Given the description of an element on the screen output the (x, y) to click on. 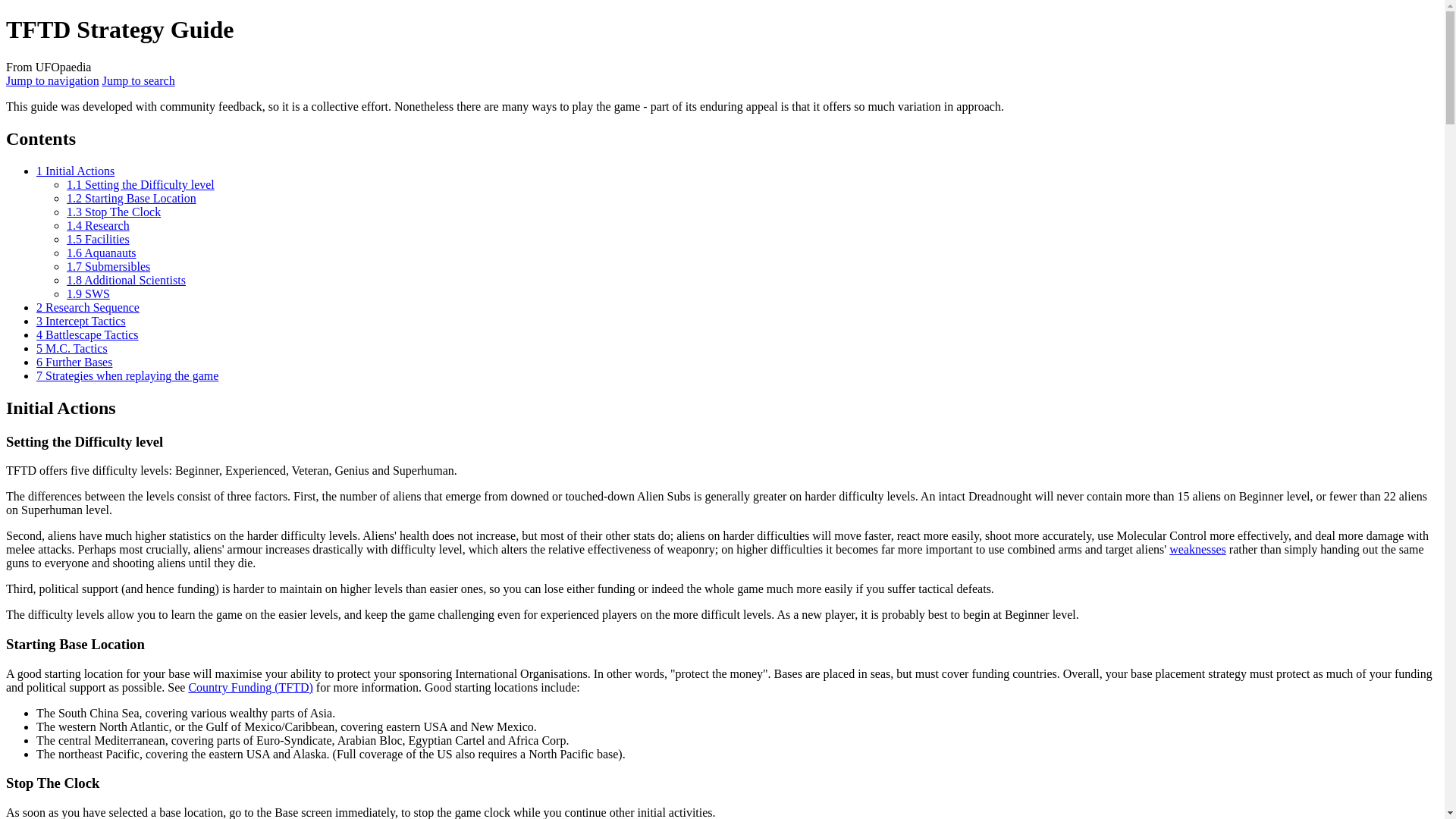
Jump to search (137, 80)
6 Further Bases (74, 361)
1.7 Submersibles (107, 266)
weaknesses (1197, 549)
4 Battlescape Tactics (87, 334)
3 Intercept Tactics (80, 320)
5 M.C. Tactics (71, 348)
1.4 Research (97, 225)
1.1 Setting the Difficulty level (140, 184)
2 Research Sequence (87, 307)
1.8 Additional Scientists (126, 279)
1.9 SWS (88, 293)
1.2 Starting Base Location (131, 197)
1.3 Stop The Clock (113, 211)
Jump to navigation (52, 80)
